Given the description of an element on the screen output the (x, y) to click on. 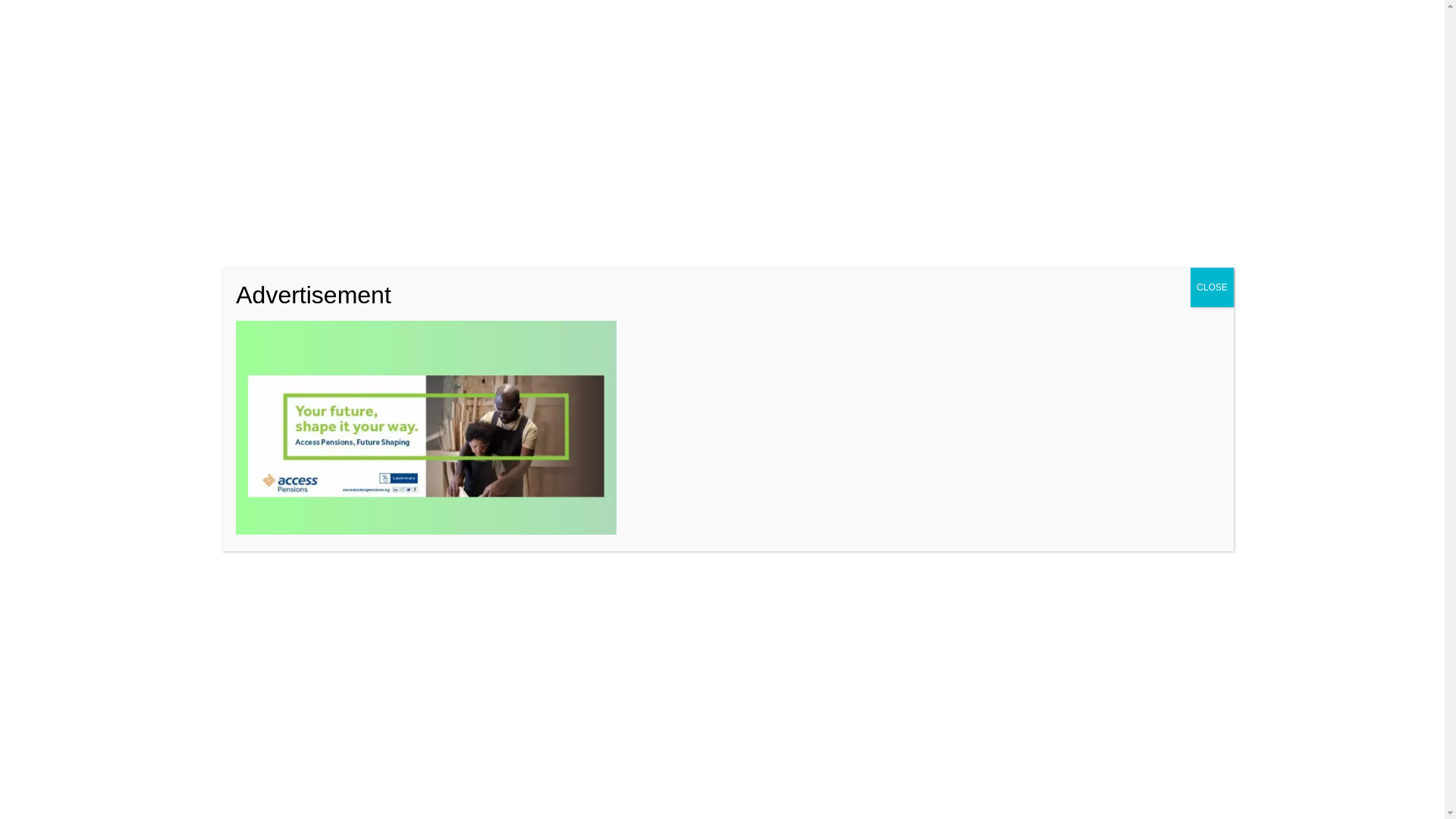
Contact Us (245, 16)
About Us (190, 16)
Home (146, 16)
News (342, 191)
Home (291, 191)
